Given the description of an element on the screen output the (x, y) to click on. 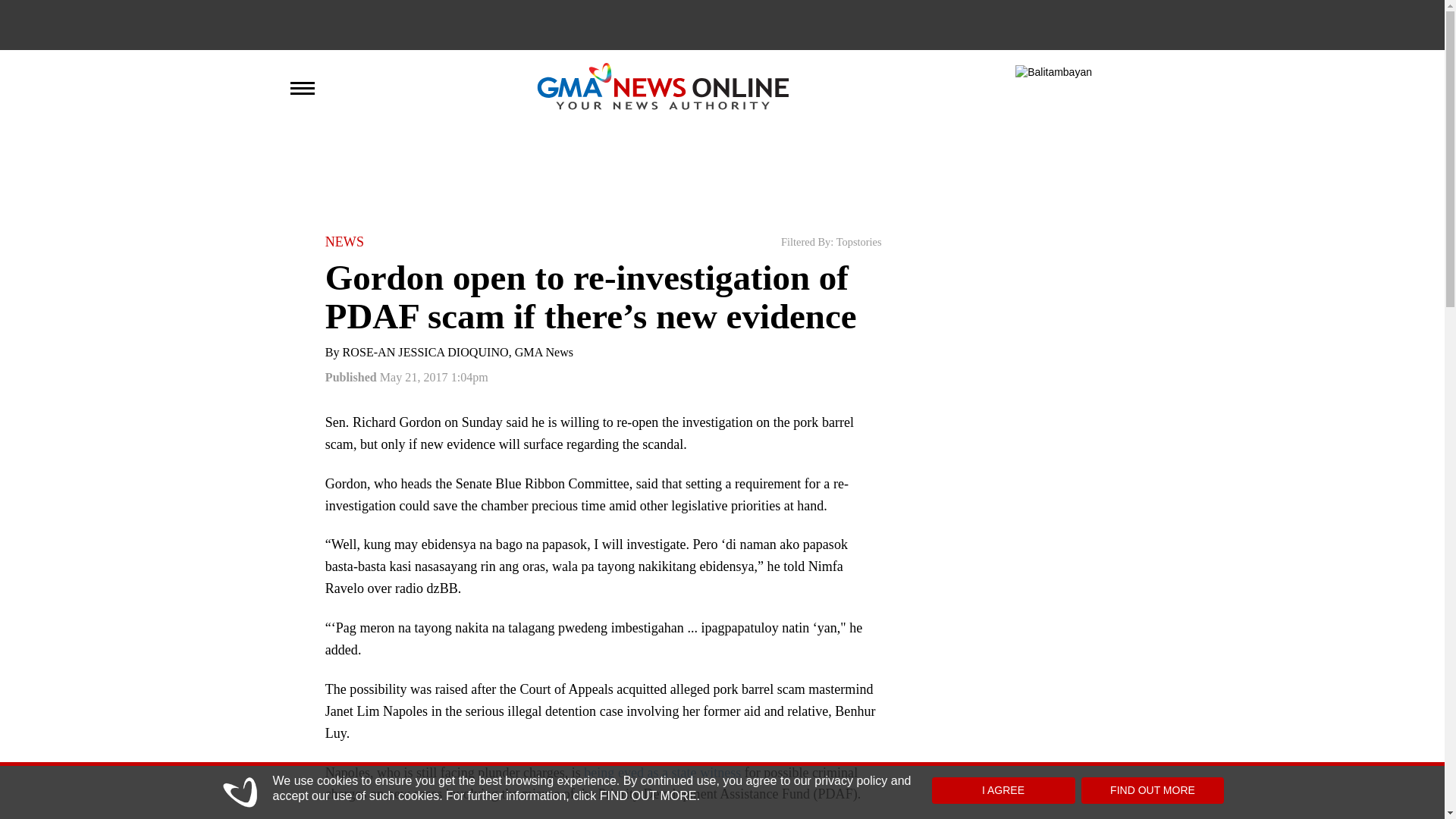
FIND OUT MORE (1152, 790)
Balitambayan (1053, 72)
I AGREE (1003, 790)
